Given the description of an element on the screen output the (x, y) to click on. 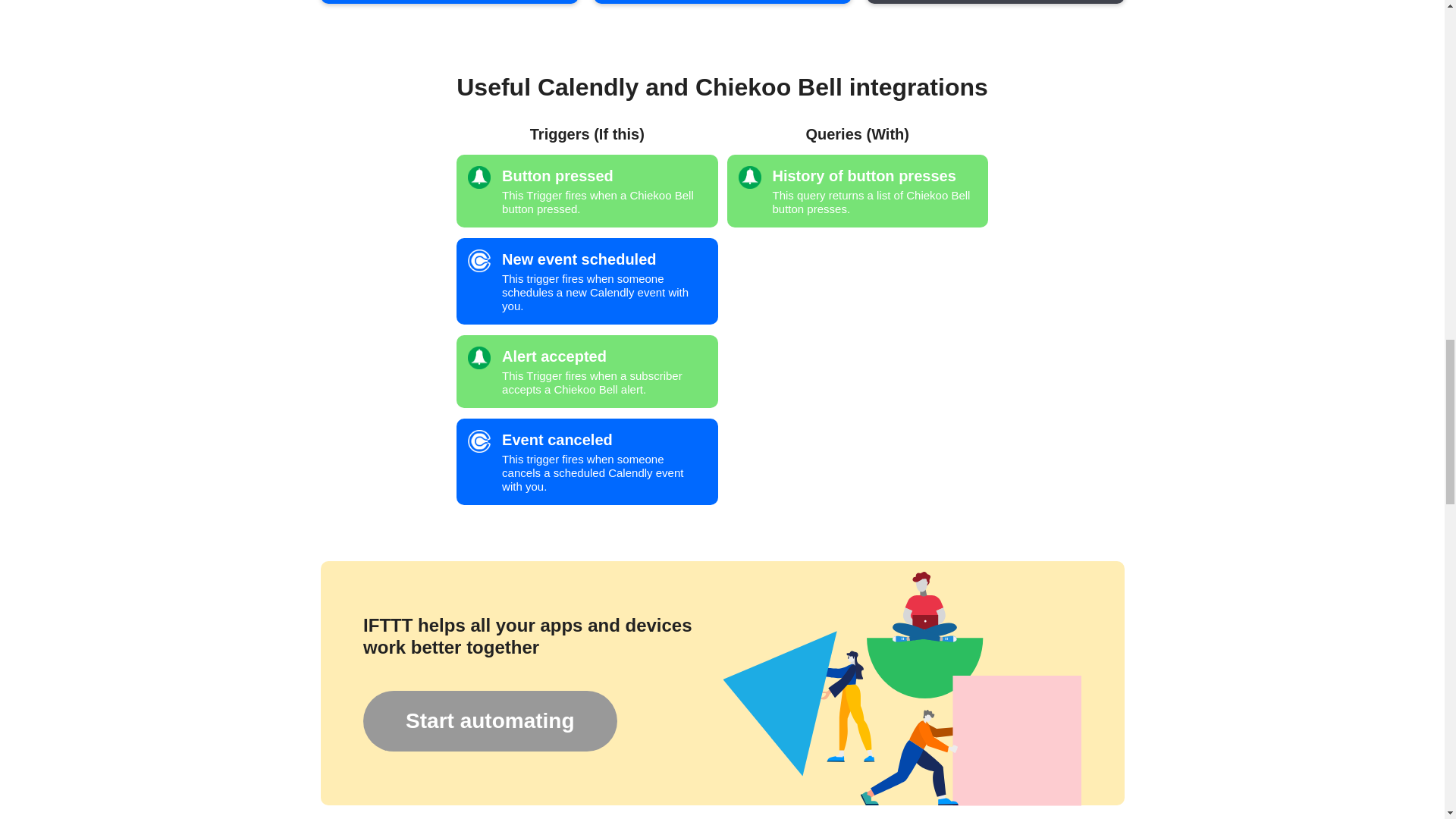
Start automating (488, 721)
